Given the description of an element on the screen output the (x, y) to click on. 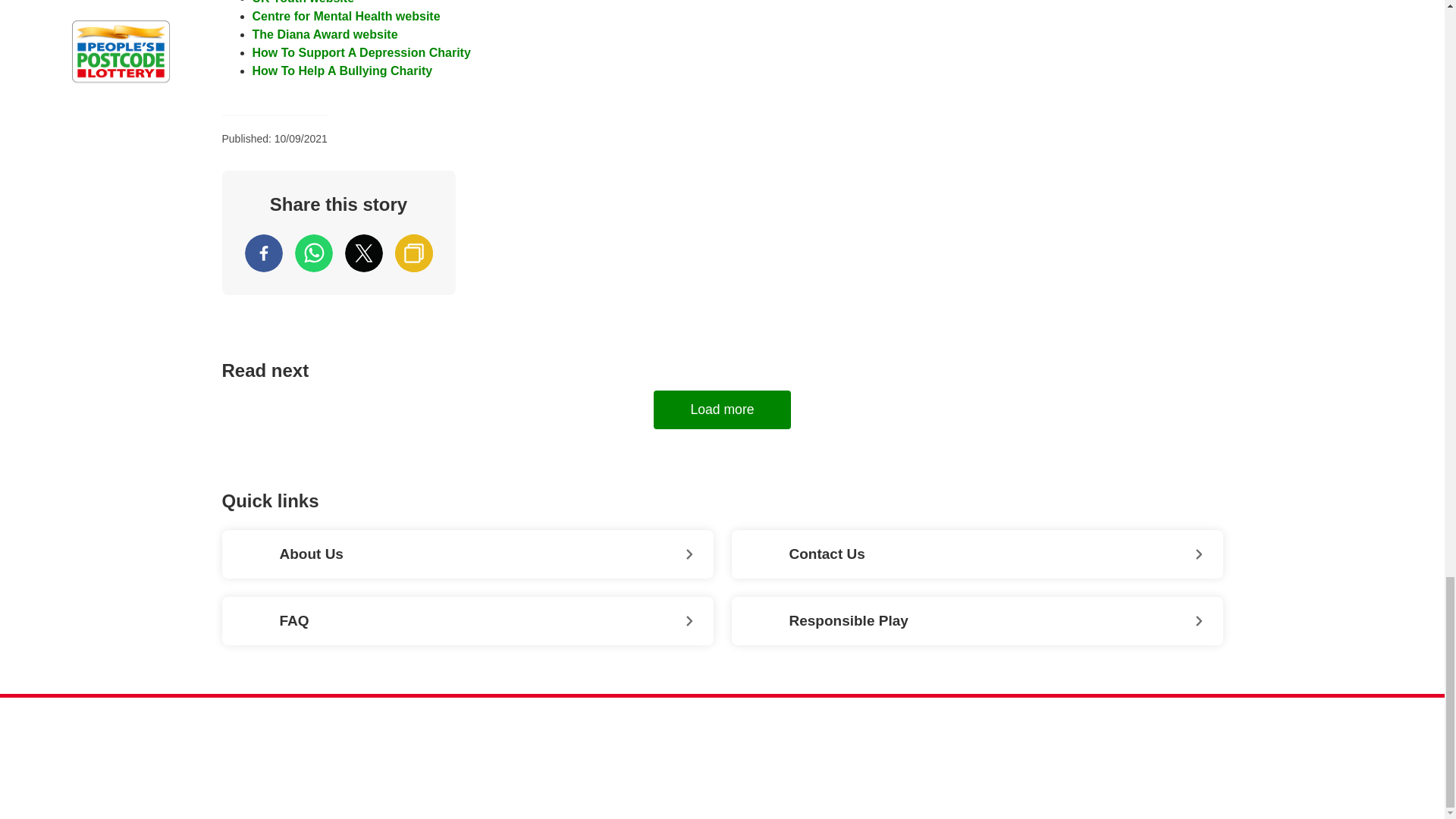
How To Help A Bullying Charity (341, 70)
Contact Us (976, 553)
The Diana Award website (324, 33)
Centre for Mental Health website (345, 15)
Load more (721, 409)
UK Youth website (302, 2)
How To Support A Depression Charity (360, 51)
About Us (467, 553)
FAQ (467, 621)
